Given the description of an element on the screen output the (x, y) to click on. 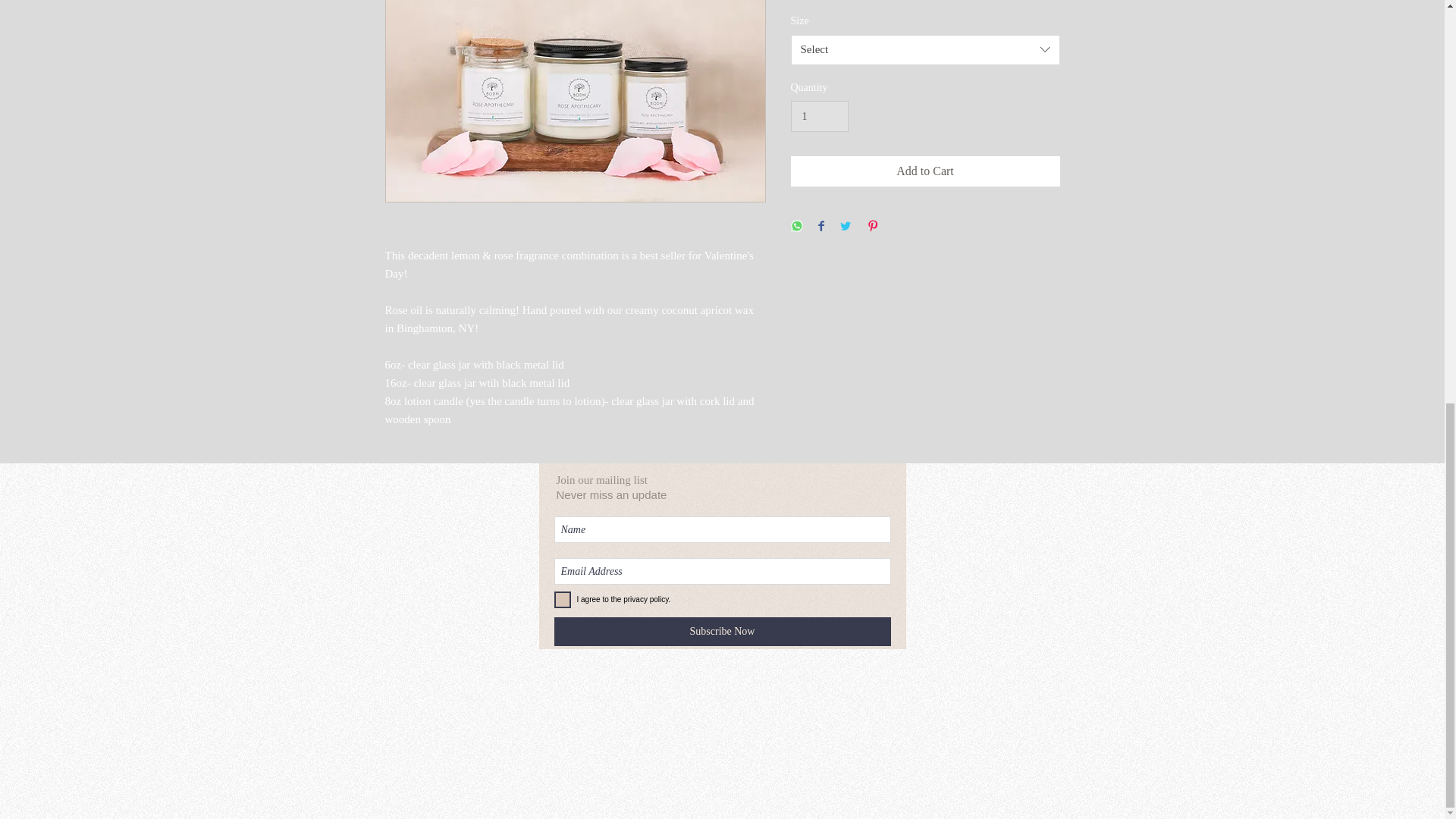
Add to Cart (924, 171)
1 (818, 115)
Select (924, 50)
Subscribe Now (721, 631)
